Given the description of an element on the screen output the (x, y) to click on. 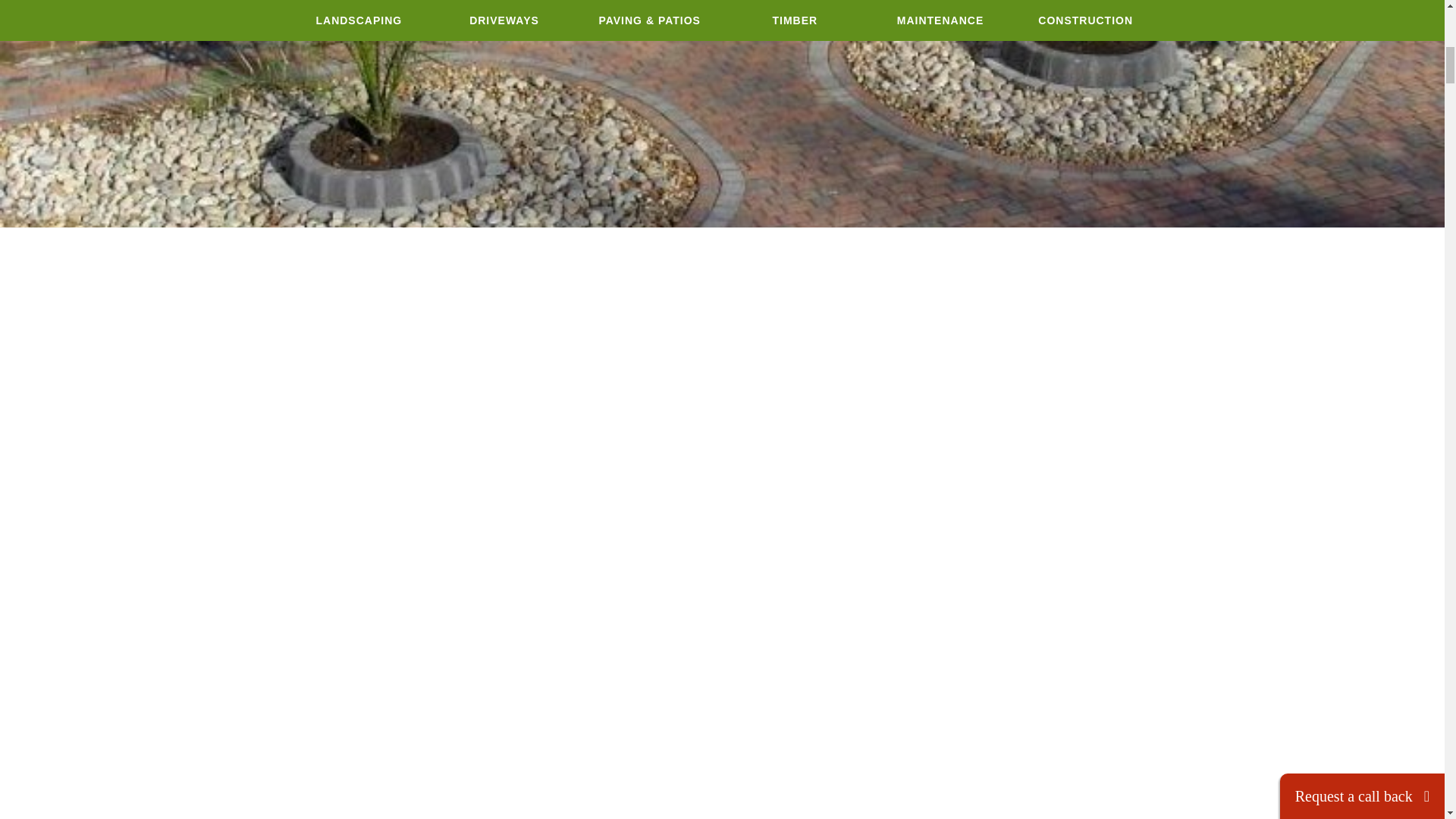
Submit (1252, 48)
Submit (1252, 48)
